Given the description of an element on the screen output the (x, y) to click on. 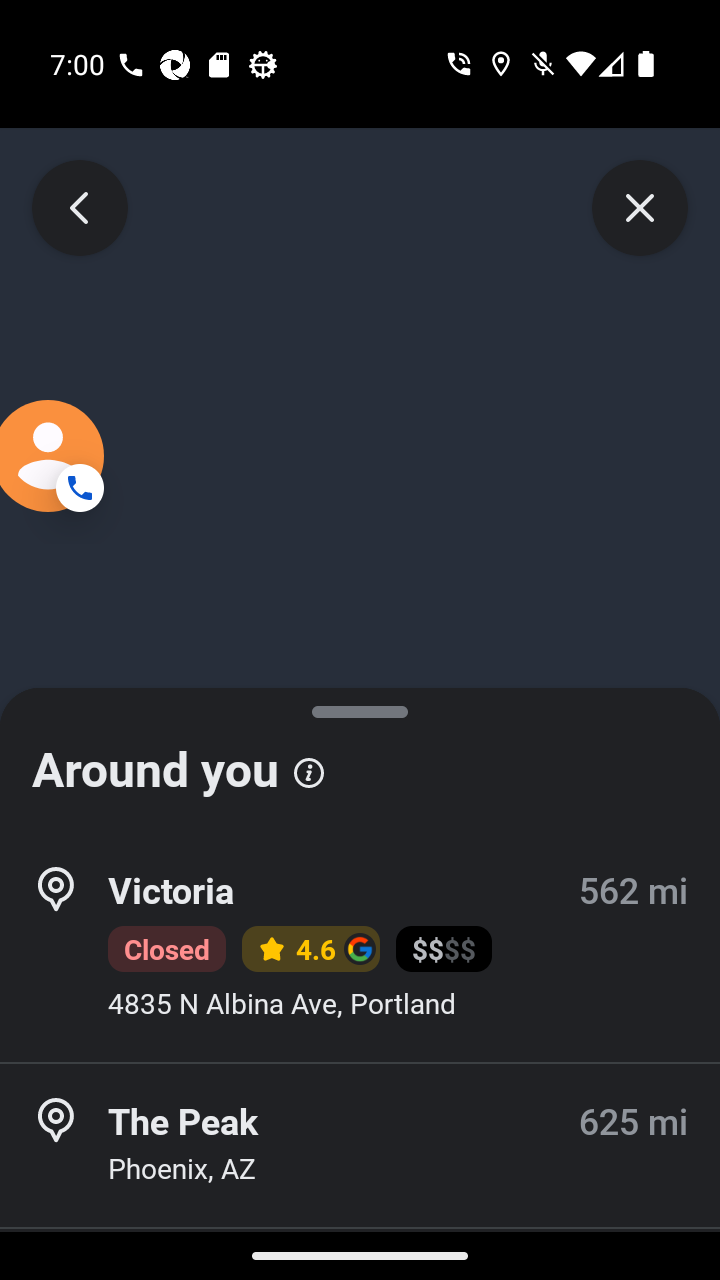
Around you (360, 760)
The Peak 625 mi Phoenix, AZ (360, 1145)
The peak 897 mi (360, 1254)
